Given the description of an element on the screen output the (x, y) to click on. 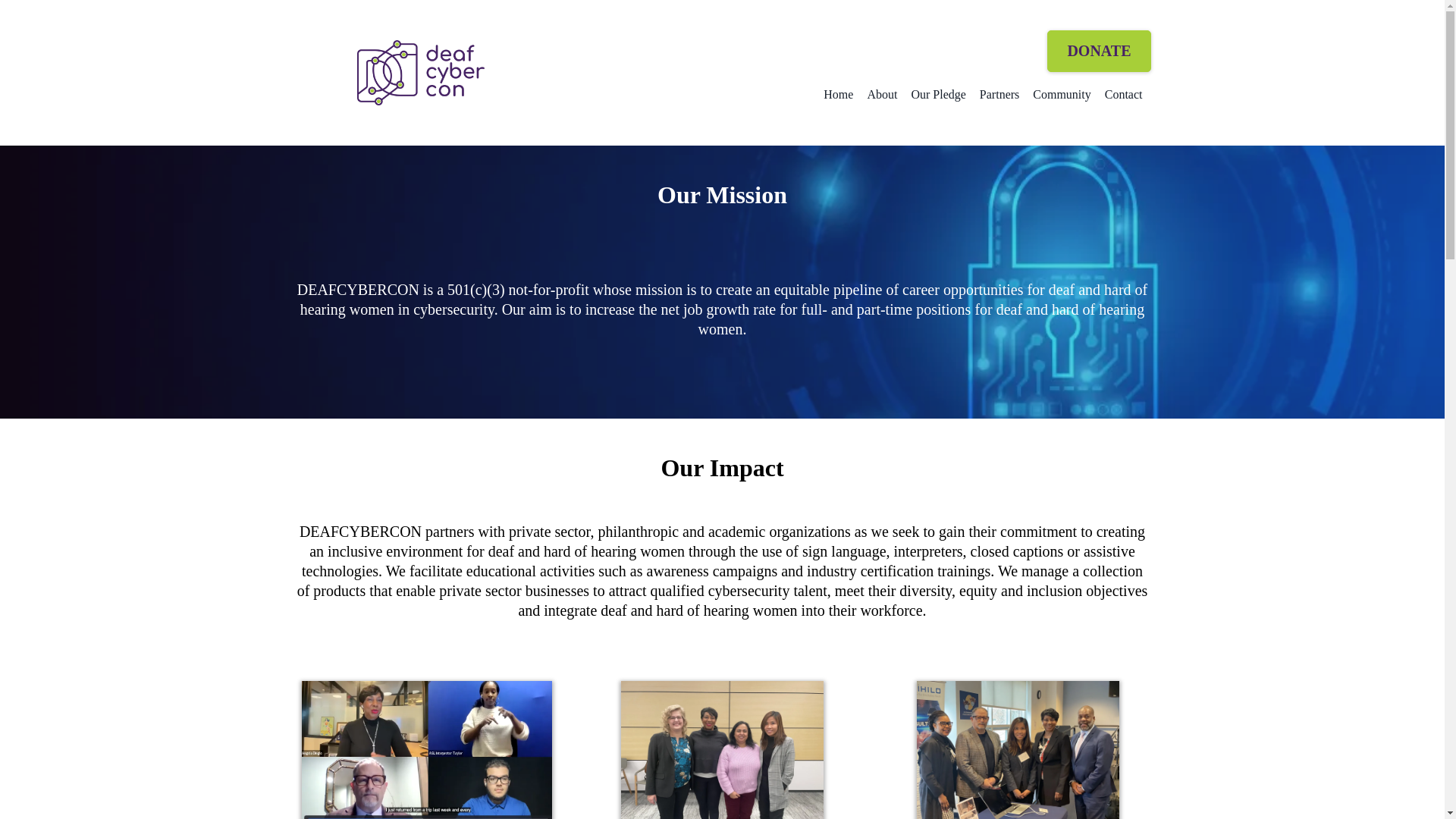
Partners (999, 95)
Home (838, 95)
About (882, 95)
Our Pledge (938, 95)
Community (1061, 95)
Contact (1123, 95)
DONATE (1098, 51)
